Given the description of an element on the screen output the (x, y) to click on. 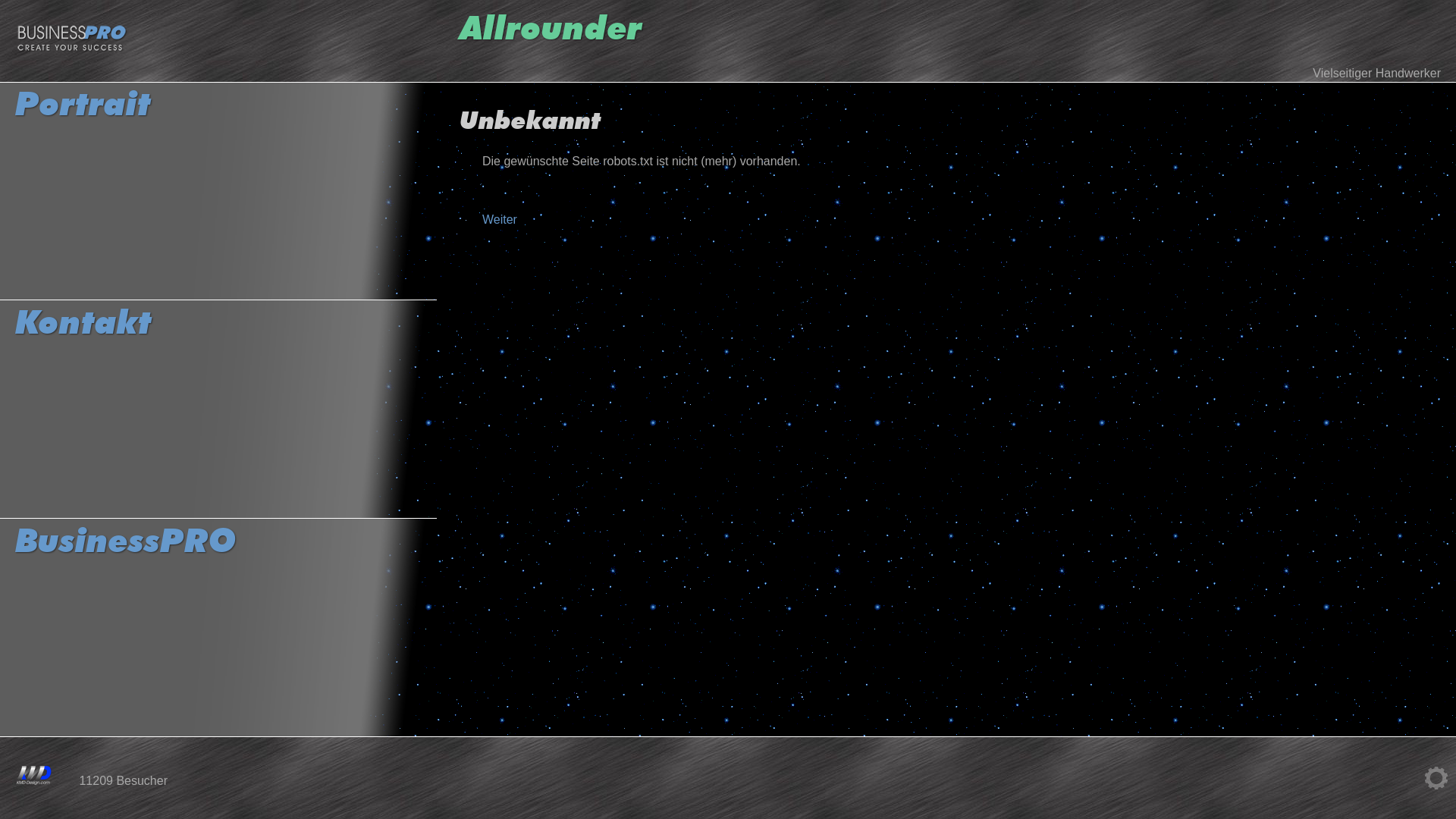
Weiter Element type: text (499, 219)
Kontakt Element type: text (218, 409)
BusinessPRO Element type: text (218, 627)
Portrait Element type: text (218, 190)
